Given the description of an element on the screen output the (x, y) to click on. 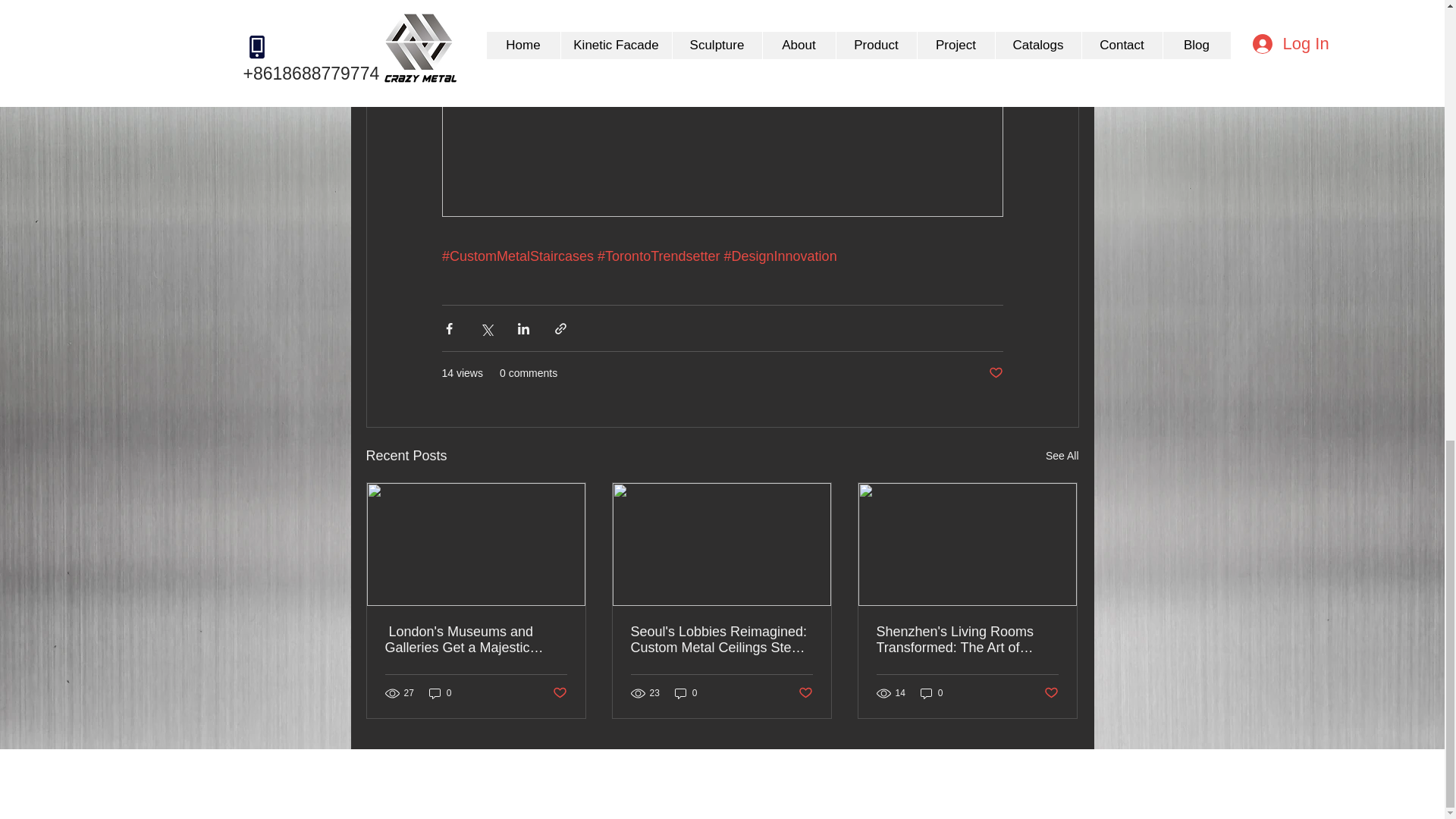
0 (440, 693)
See All (1061, 455)
Post not marked as liked (558, 693)
Post not marked as liked (995, 373)
